Given the description of an element on the screen output the (x, y) to click on. 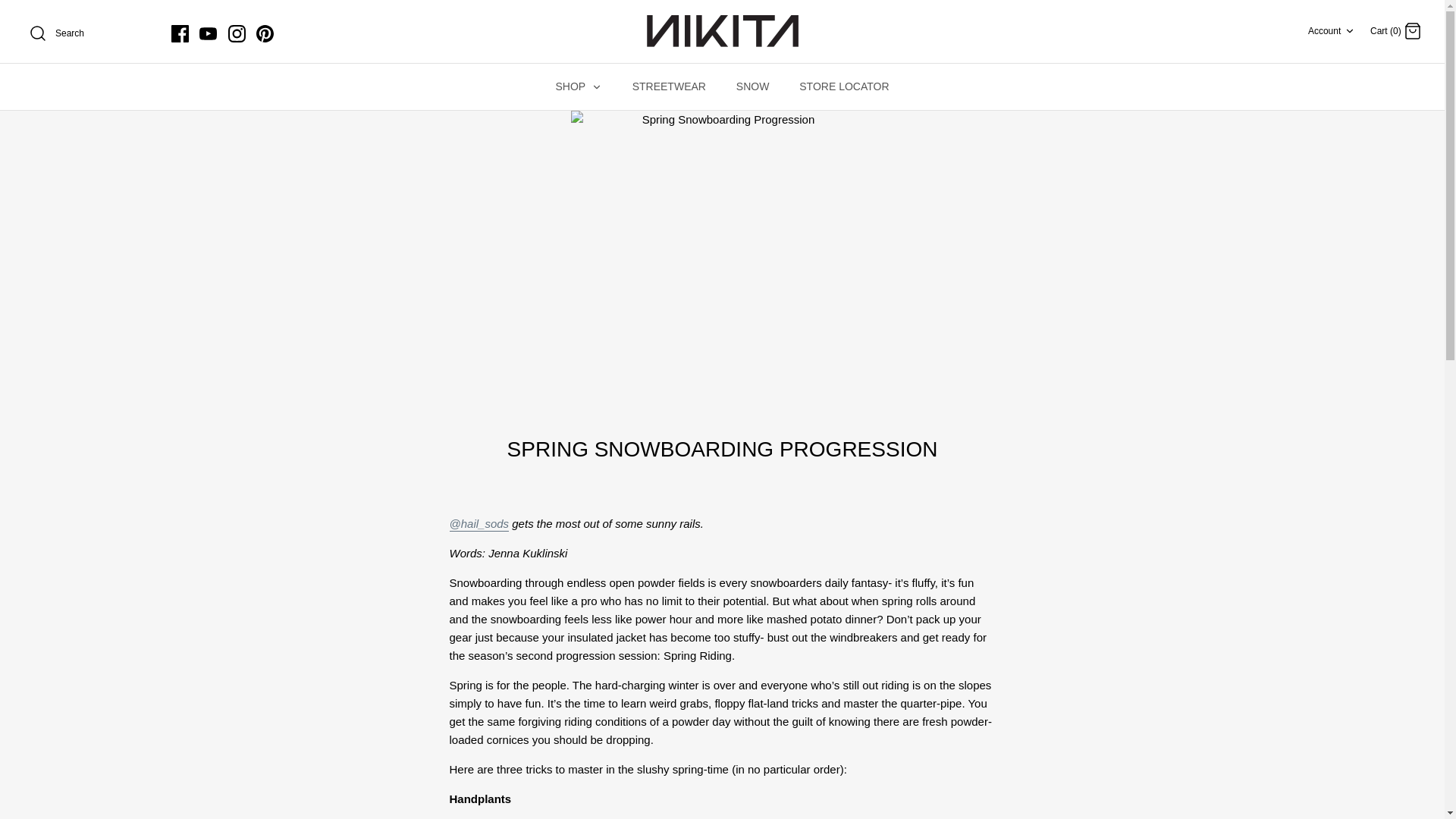
Facebook (180, 33)
Pinterest (264, 33)
SHOP Toggle menu (577, 86)
Facebook (180, 33)
Youtube (207, 33)
Instagram (237, 33)
Youtube (1331, 30)
Toggle menu (207, 33)
Pinterest (596, 86)
Cart (264, 33)
Instagram (1412, 31)
Nikita Clothing (237, 33)
Down (721, 31)
